Given the description of an element on the screen output the (x, y) to click on. 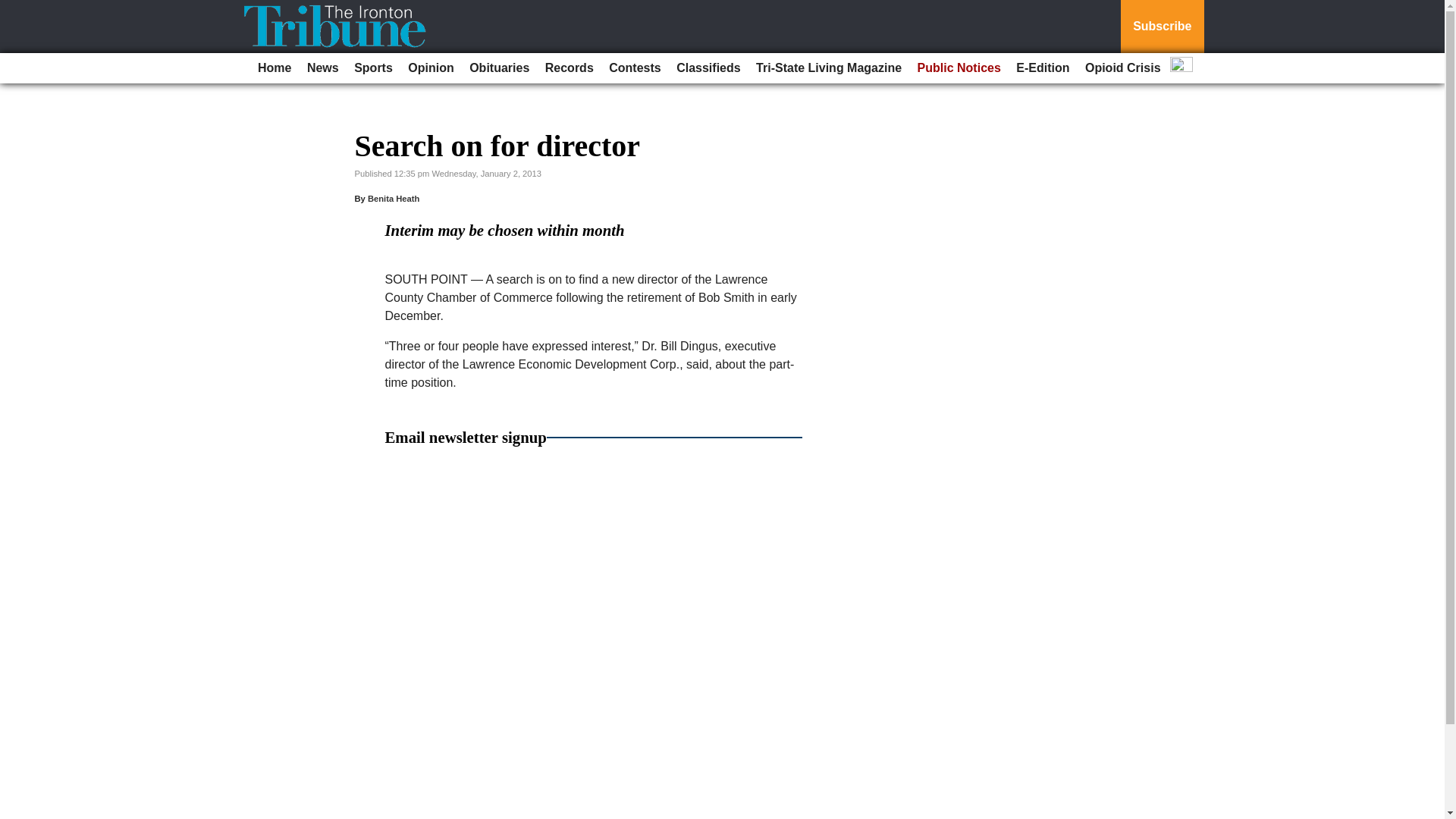
News (323, 68)
Classifieds (707, 68)
Obituaries (499, 68)
Subscribe (1162, 26)
Benita Heath (393, 198)
Records (568, 68)
Opinion (430, 68)
E-Edition (1042, 68)
Public Notices (959, 68)
Opioid Crisis (1122, 68)
